Given the description of an element on the screen output the (x, y) to click on. 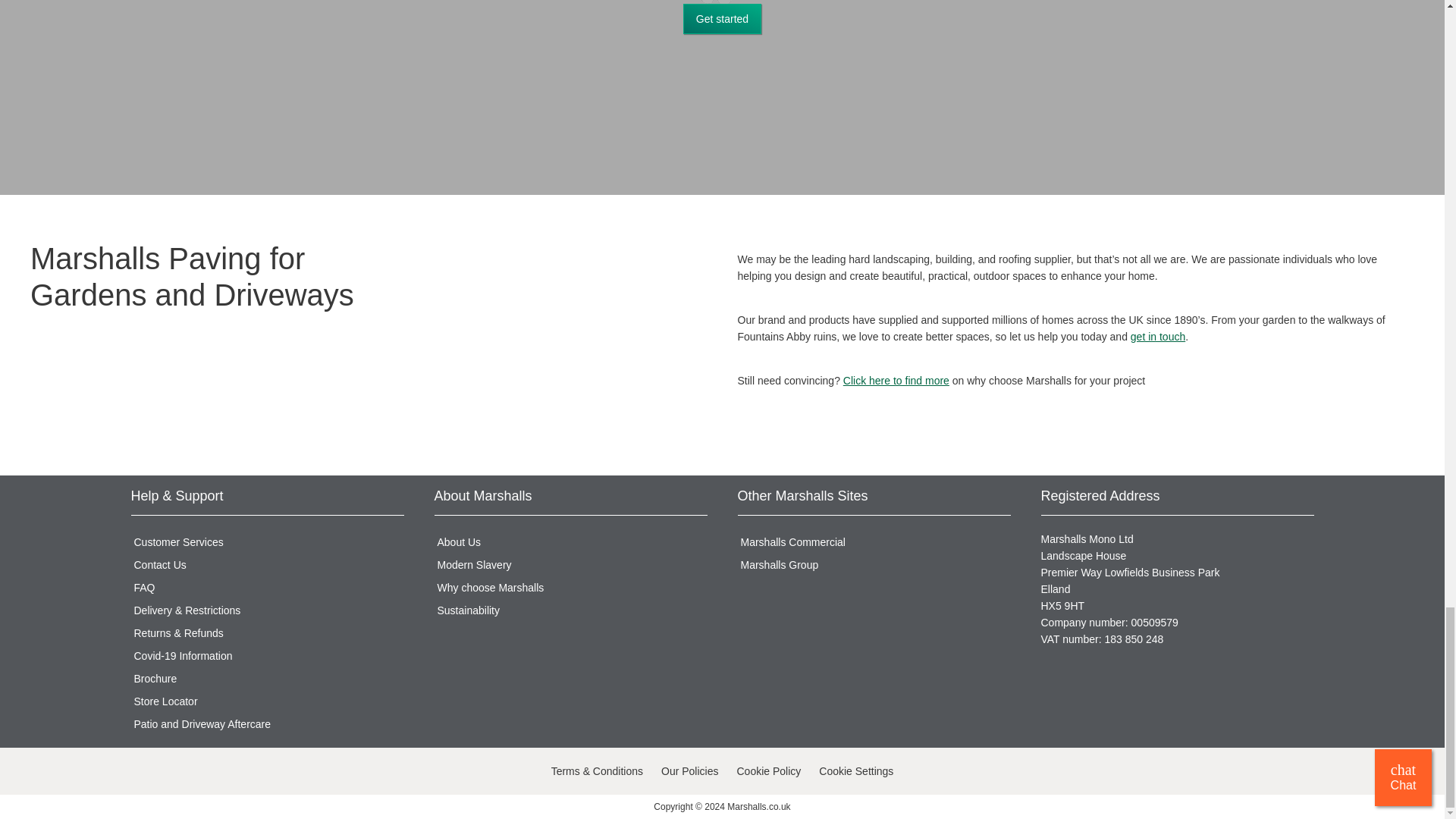
PayPal (240, 772)
Visa Electron (208, 772)
Visa Debit (176, 772)
Maestro (304, 772)
Mastercard (272, 772)
Visa (144, 772)
